Given the description of an element on the screen output the (x, y) to click on. 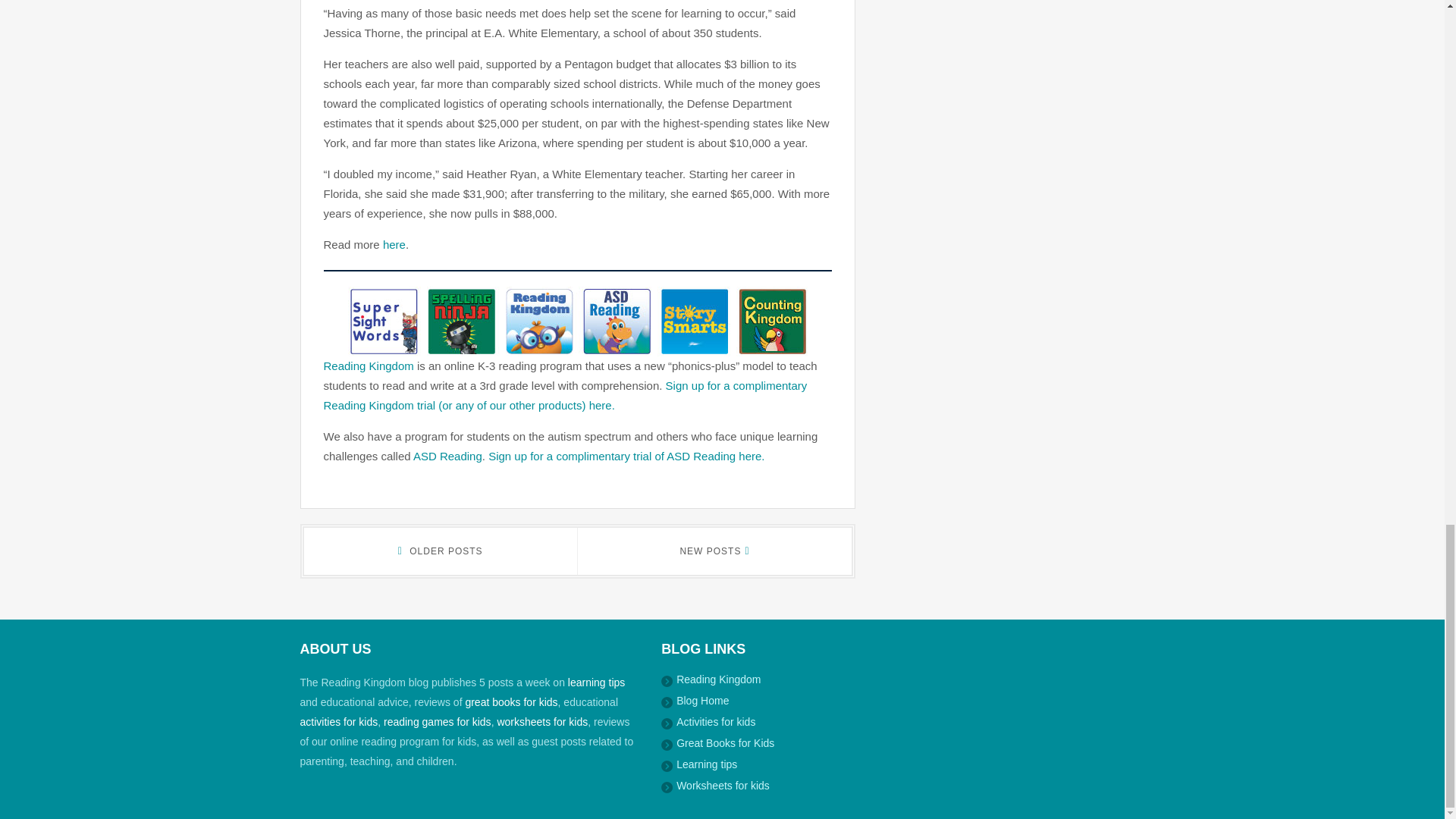
learning tips (596, 682)
Blog Home (703, 700)
Sign up for a complimentary trial of ASD Reading here. (625, 455)
activities for kids (338, 721)
worksheets for kids (542, 721)
ASD Reading (447, 455)
here (394, 244)
great books for kids (510, 702)
Reading Kingdom (718, 679)
reading games for kids (438, 721)
